Given the description of an element on the screen output the (x, y) to click on. 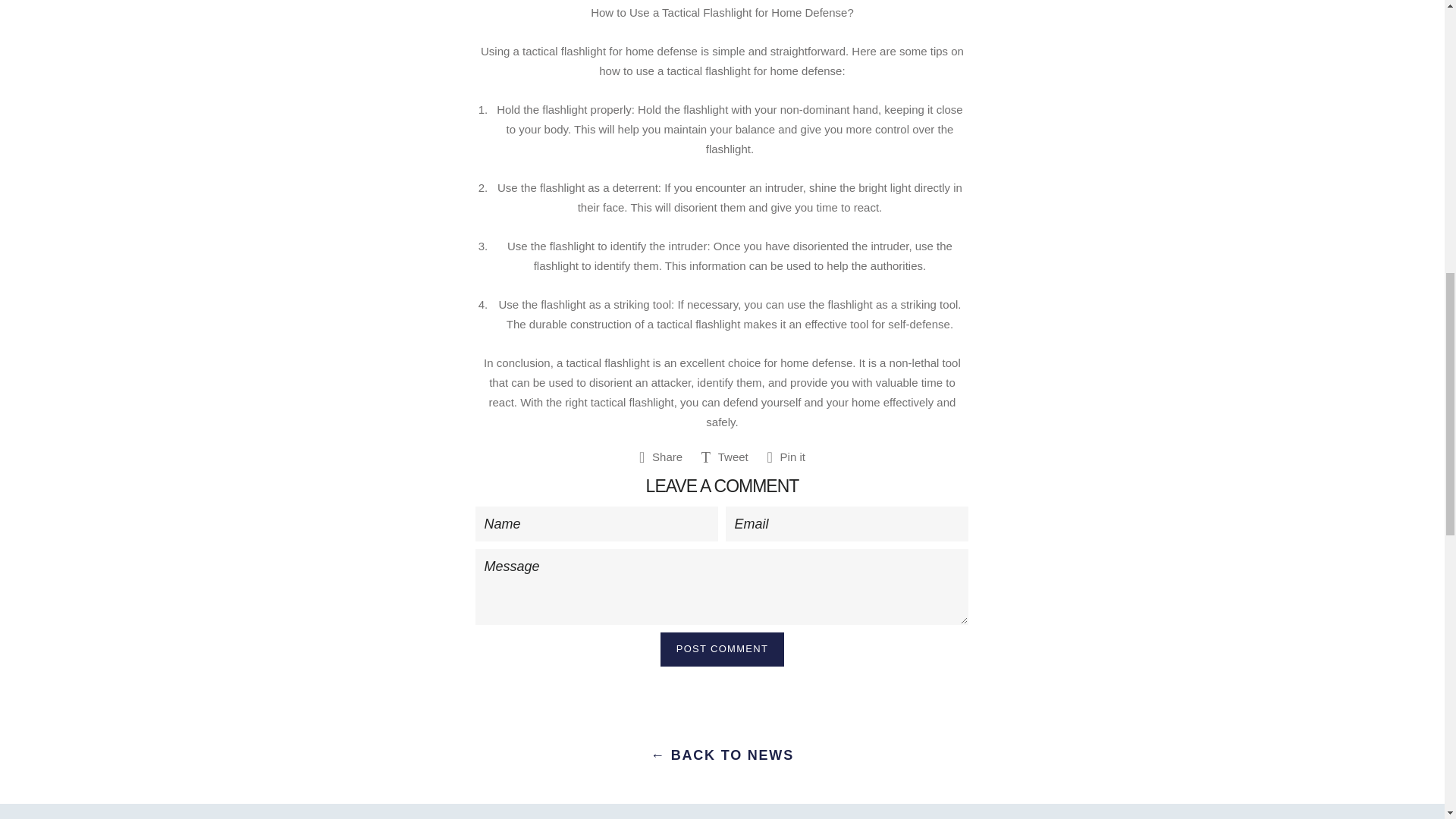
Post comment (724, 458)
Tweet on Twitter (660, 458)
Pin on Pinterest (722, 648)
Share on Facebook (786, 458)
Post comment (724, 458)
